Given the description of an element on the screen output the (x, y) to click on. 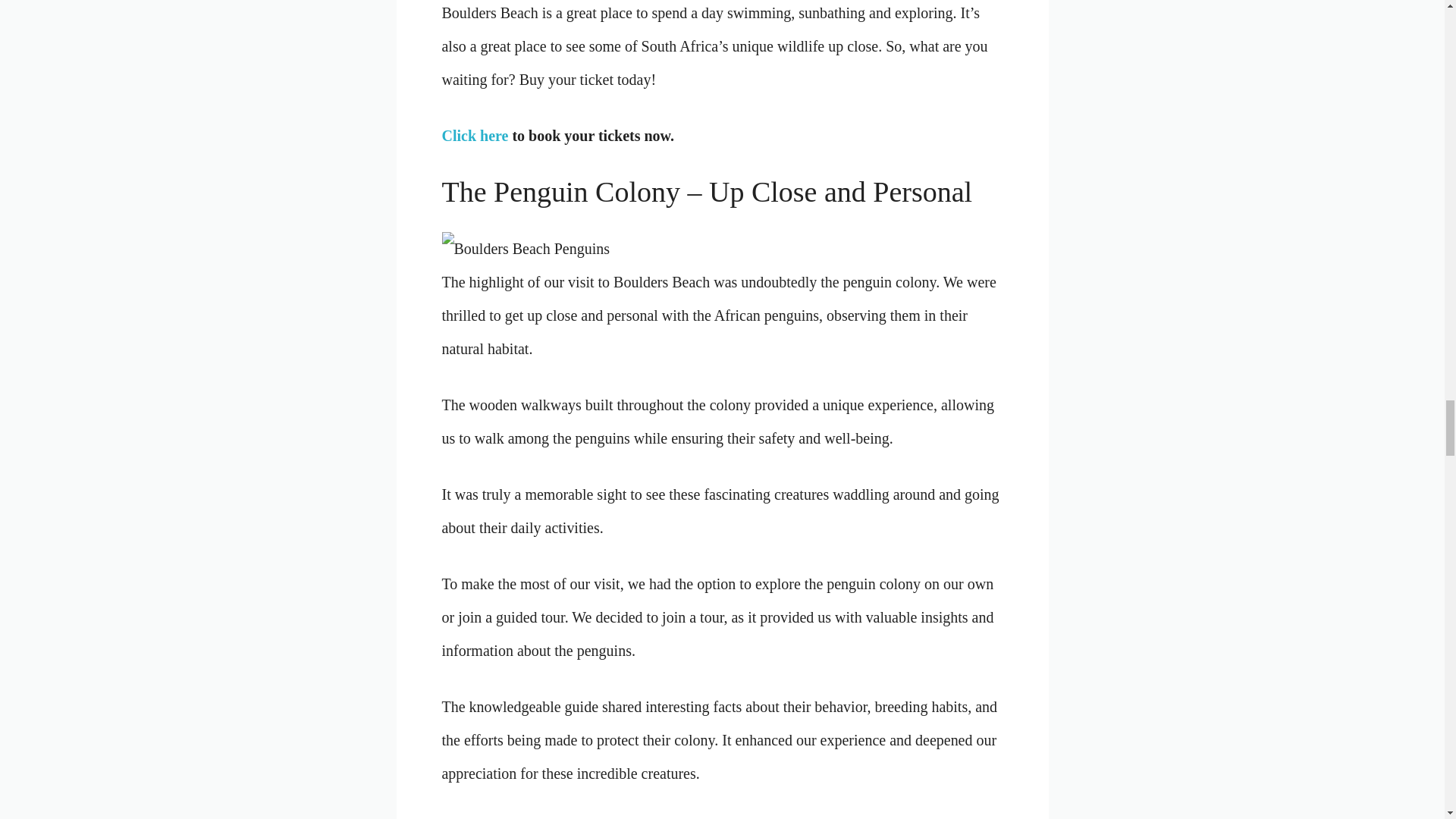
Click here (474, 135)
